Given the description of an element on the screen output the (x, y) to click on. 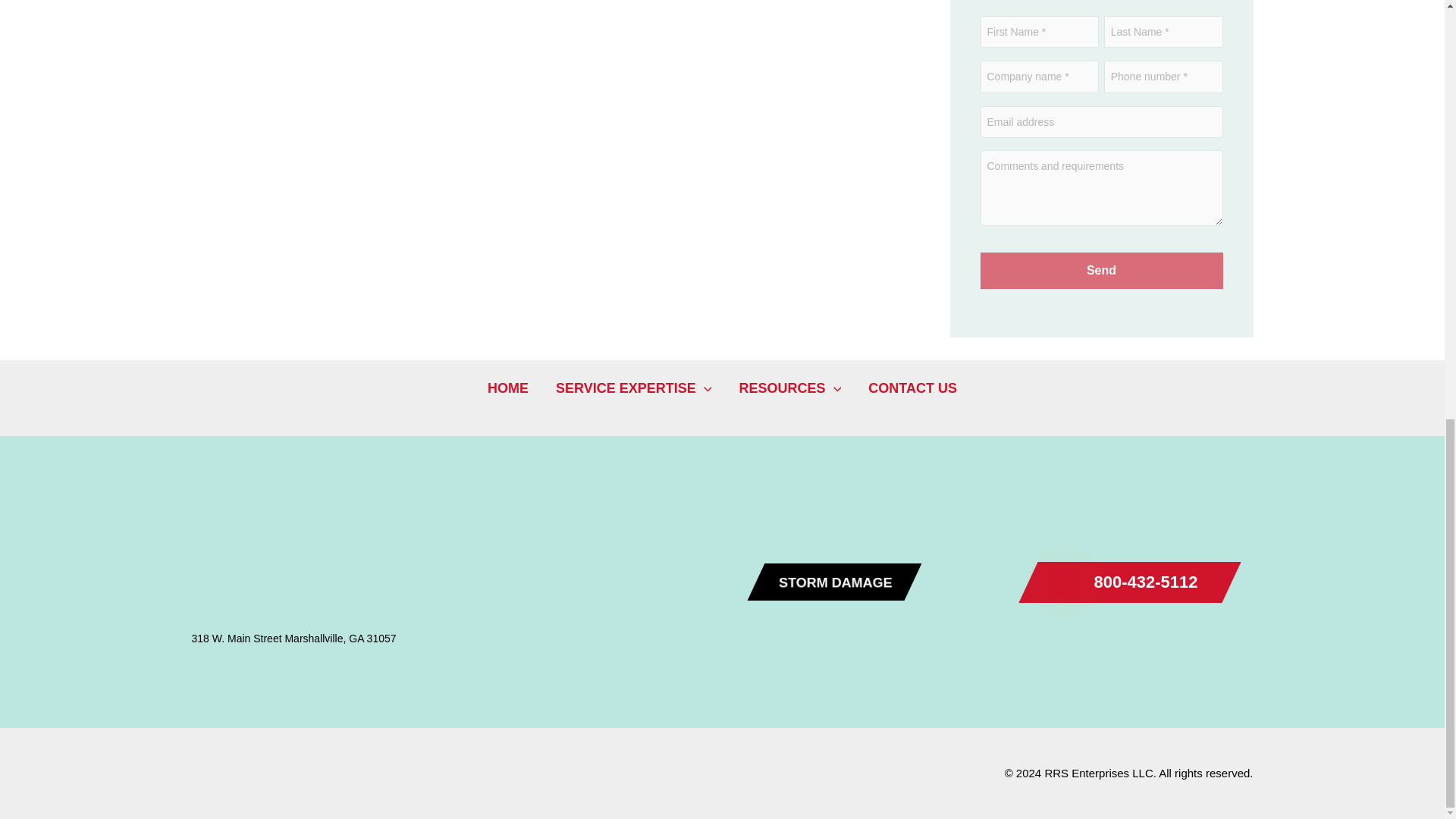
Send (1101, 270)
